Given the description of an element on the screen output the (x, y) to click on. 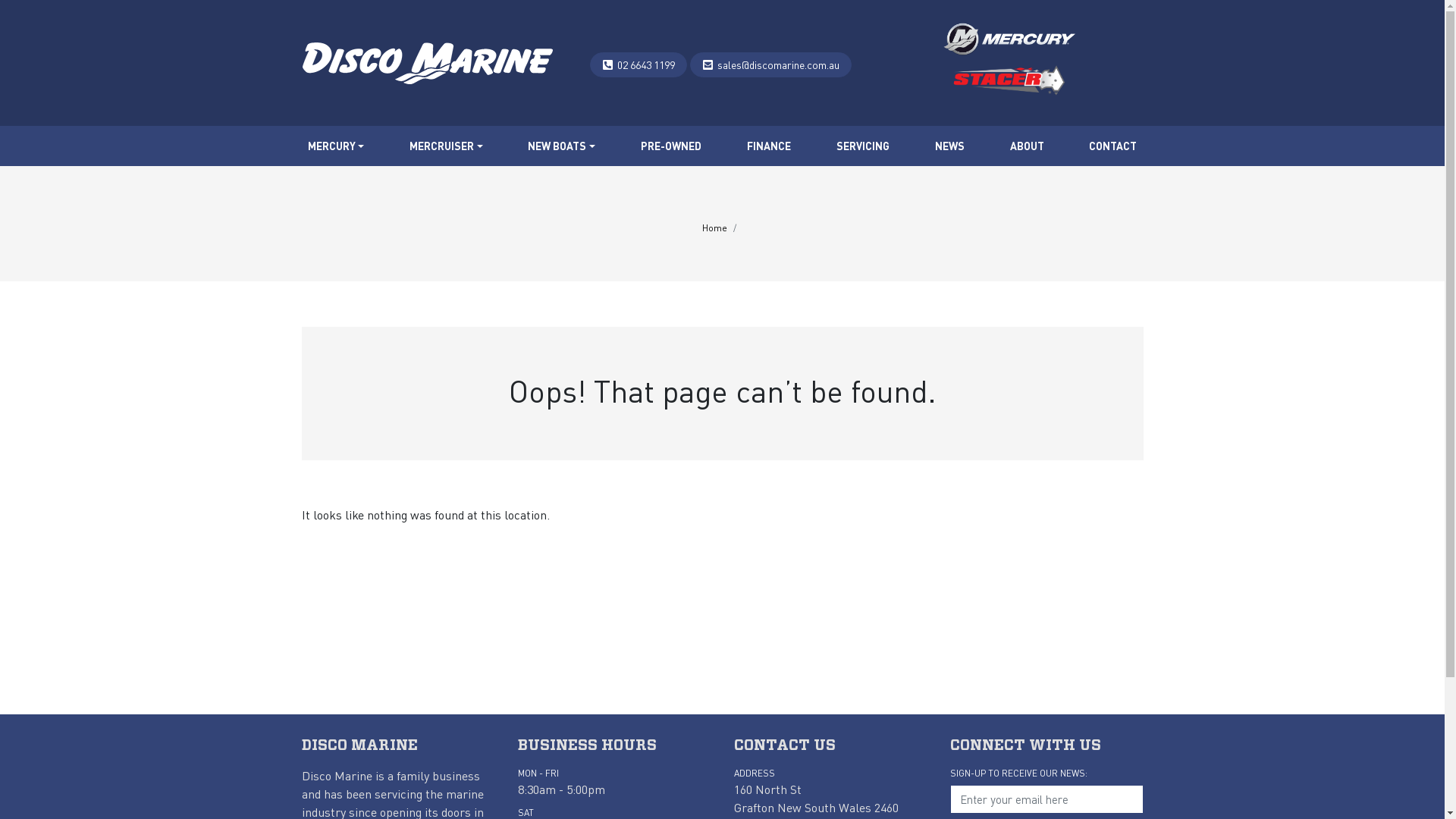
PRE-OWNED Element type: text (670, 145)
ABOUT Element type: text (1027, 145)
02 6643 1199 Element type: text (645, 64)
NEWS Element type: text (949, 145)
sales@discomarine.com.au Element type: text (778, 64)
CONTACT Element type: text (1112, 145)
Home Element type: text (714, 227)
SERVICING Element type: text (862, 145)
MERCURY Element type: text (335, 145)
MERCRUISER Element type: text (446, 145)
FINANCE Element type: text (768, 145)
... Element type: hover (427, 63)
NEW BOATS Element type: text (561, 145)
